Given the description of an element on the screen output the (x, y) to click on. 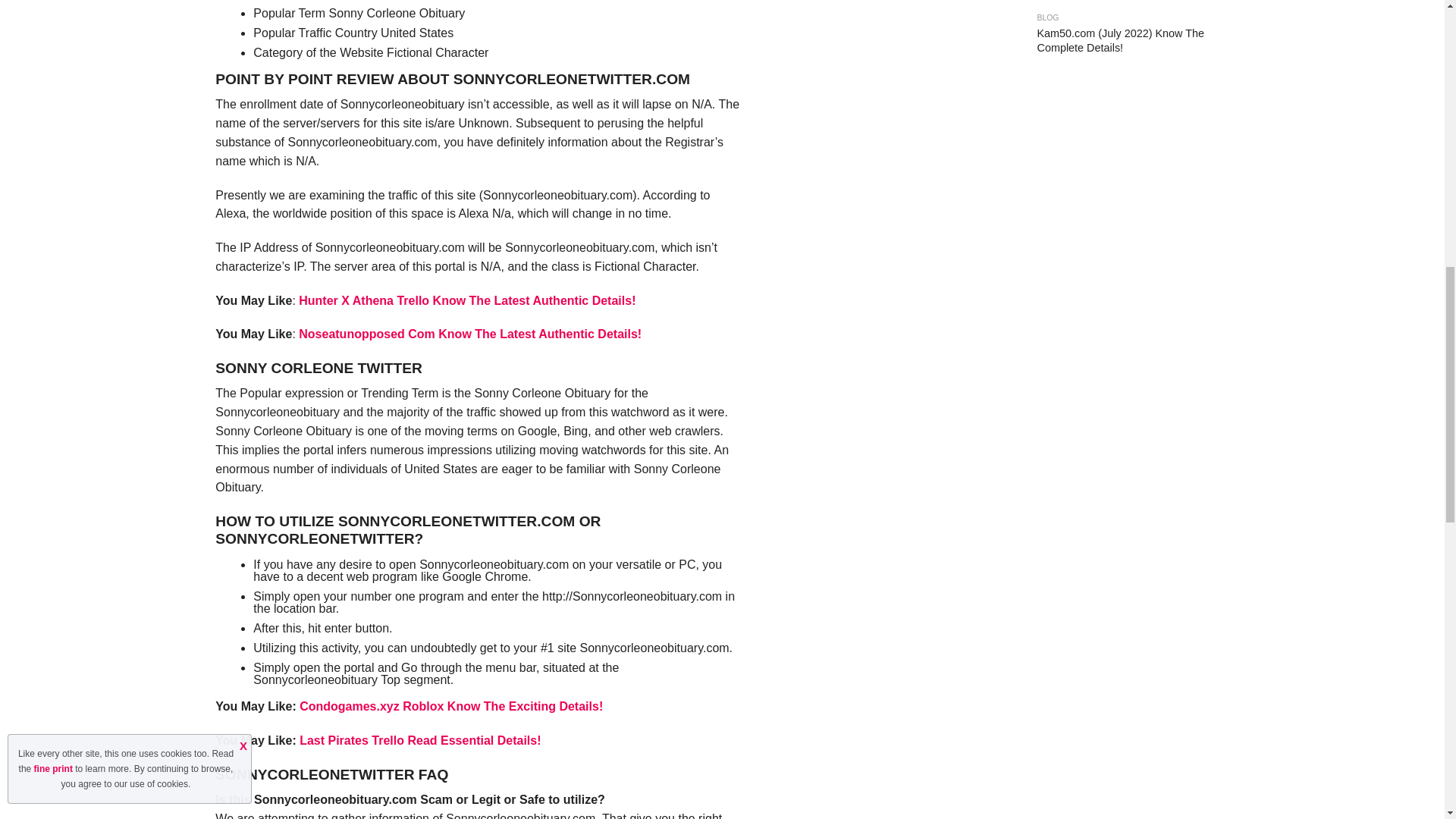
Last Pirates Trello Read Essential Details! (419, 739)
Hunter X Athena Trello Know The Latest Authentic Details! (466, 300)
Noseatunopposed Com Know The Latest Authentic Details! (470, 333)
Condogames.xyz Roblox Know The Exciting Details! (450, 706)
